Given the description of an element on the screen output the (x, y) to click on. 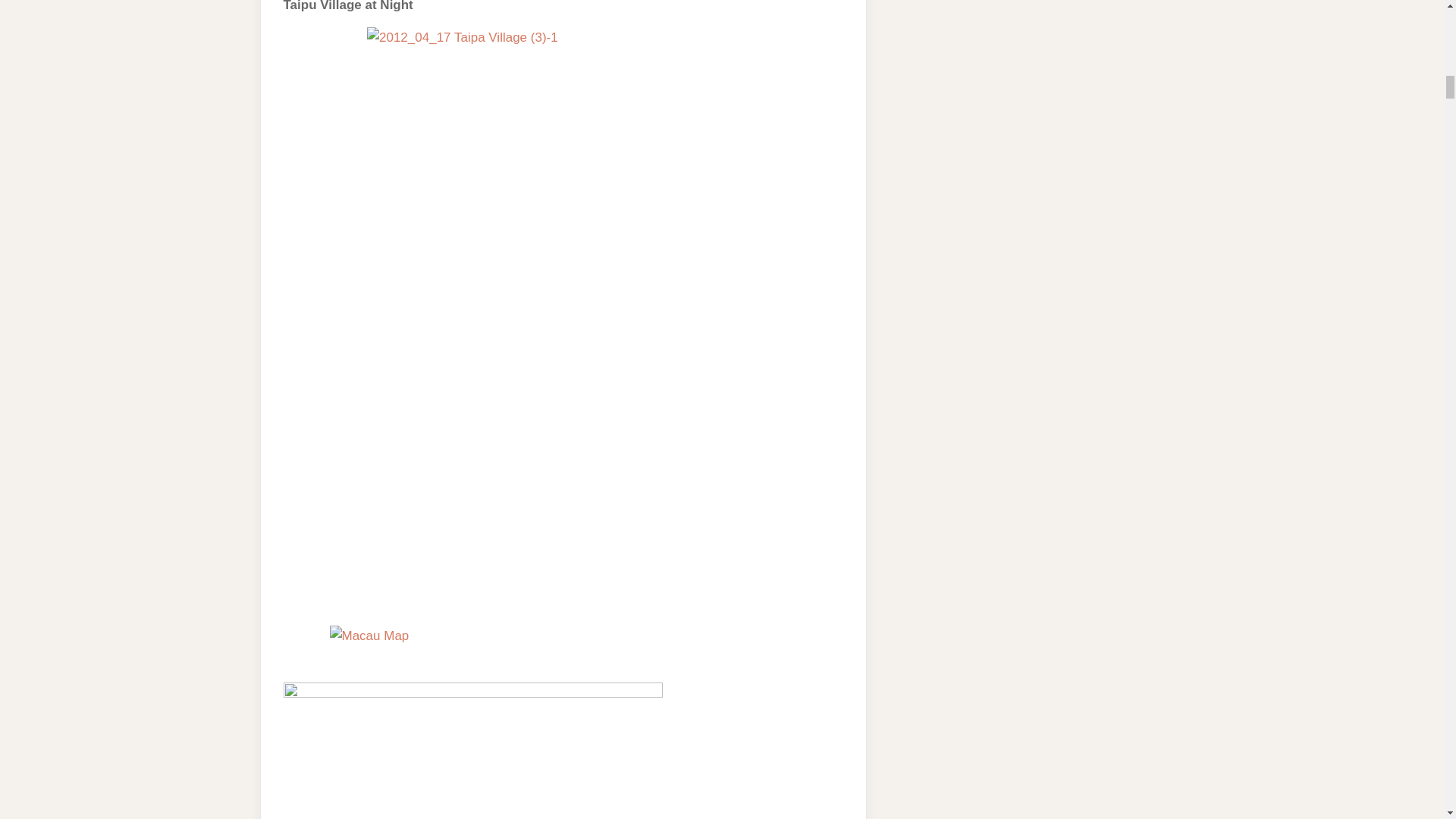
Macau Map (369, 635)
